Given the description of an element on the screen output the (x, y) to click on. 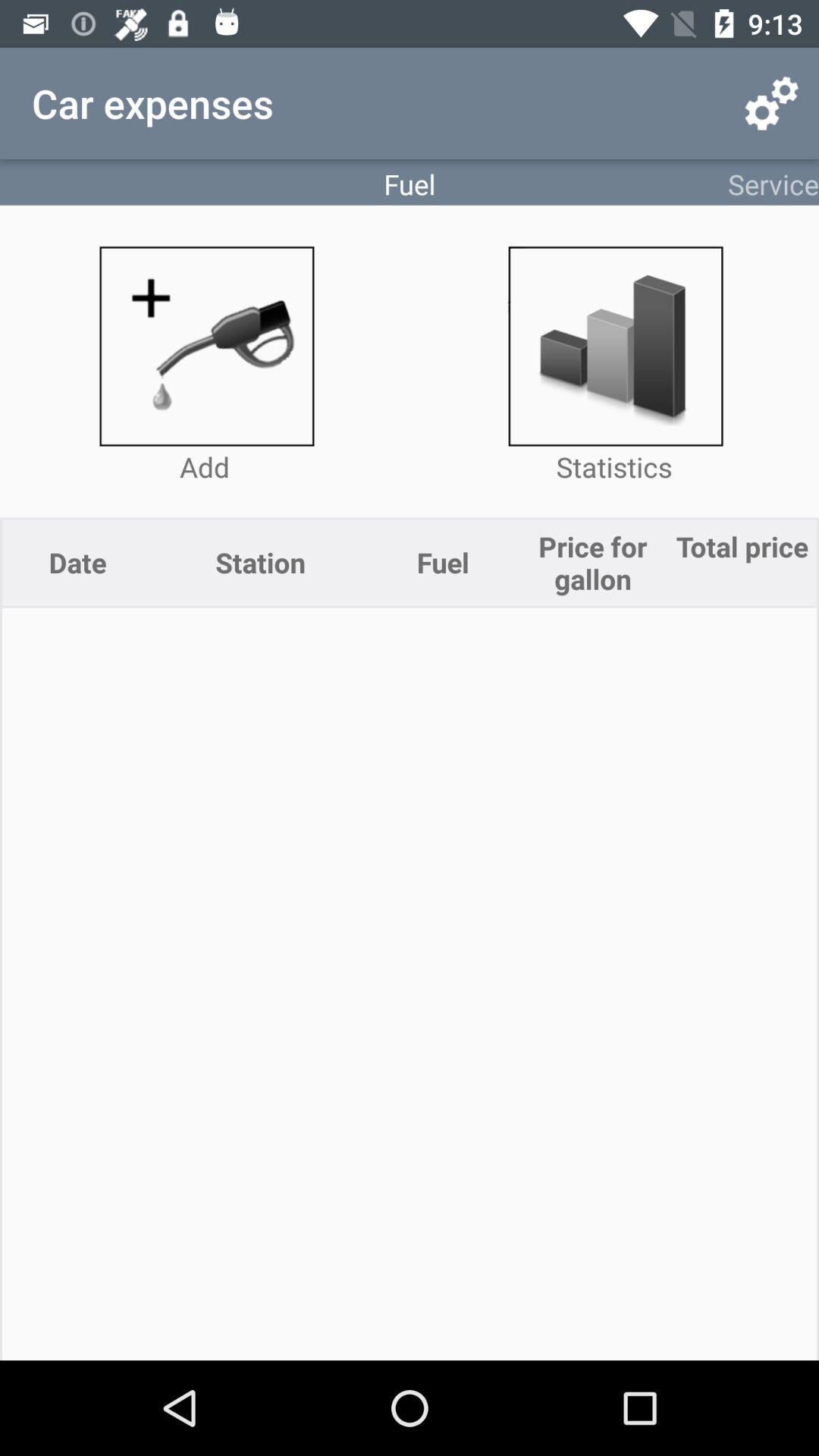
add gas numbers (204, 345)
